Given the description of an element on the screen output the (x, y) to click on. 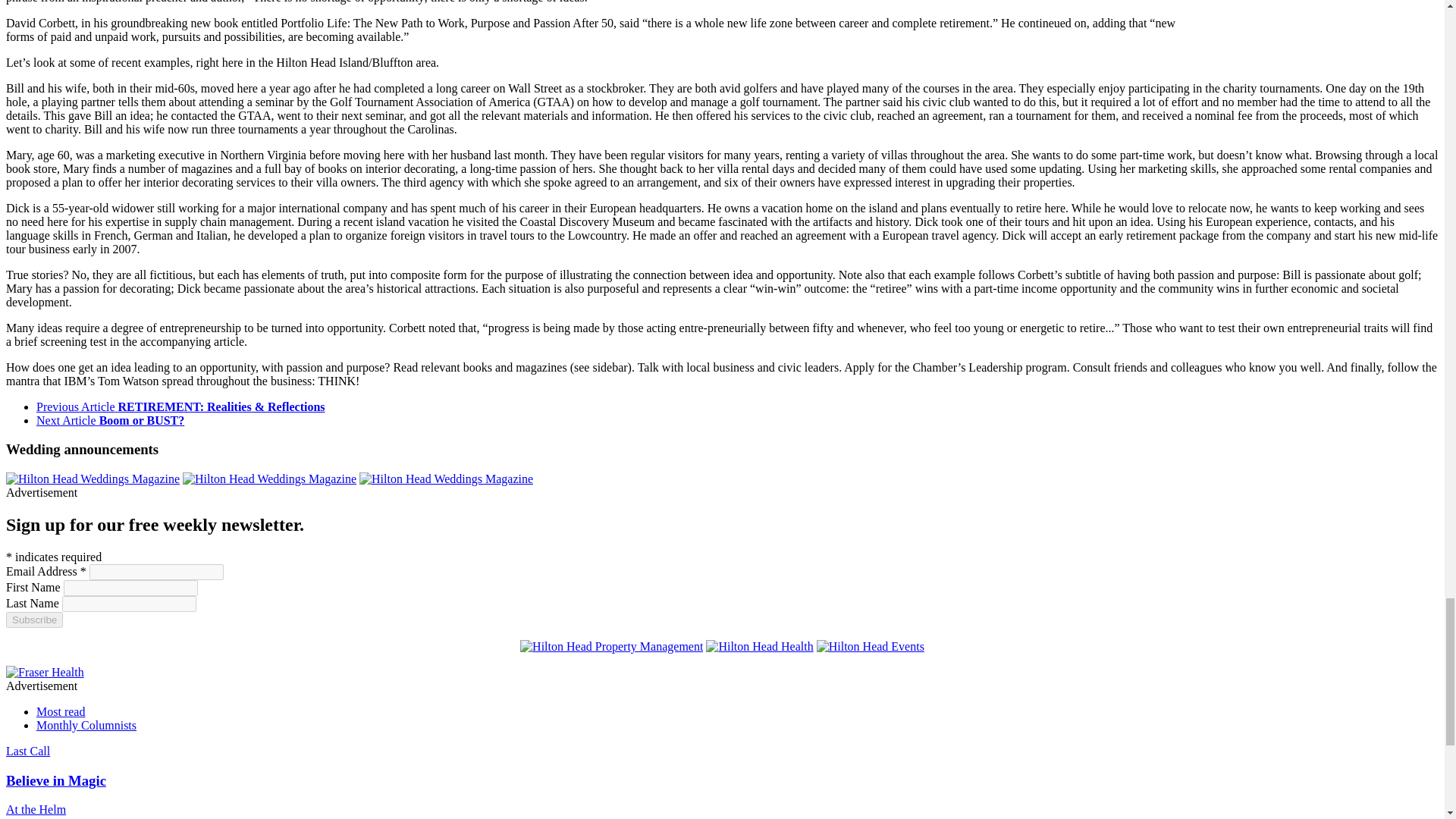
Category:  (35, 809)
Fraser Health (44, 671)
Hilton Head Medical Guide (759, 646)
Hilton Head Weddings (445, 479)
Hilton Head Property Management (611, 646)
Subscribe (33, 619)
Hilton Head Weddings (92, 479)
Hilton Head Events (870, 646)
Category:  (27, 750)
Hilton Head Weddings (269, 479)
